Given the description of an element on the screen output the (x, y) to click on. 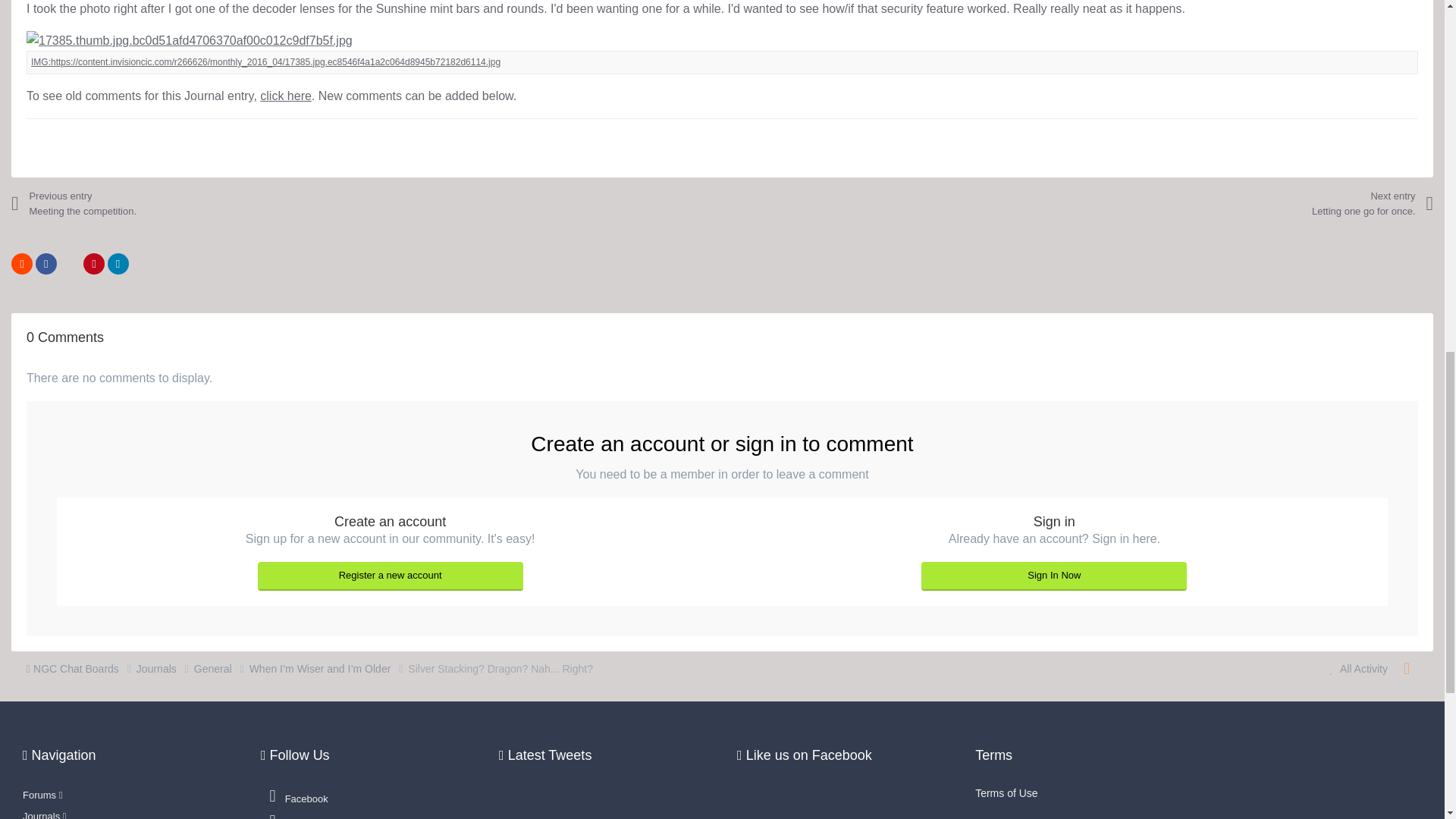
Previous entry (143, 203)
